Given the description of an element on the screen output the (x, y) to click on. 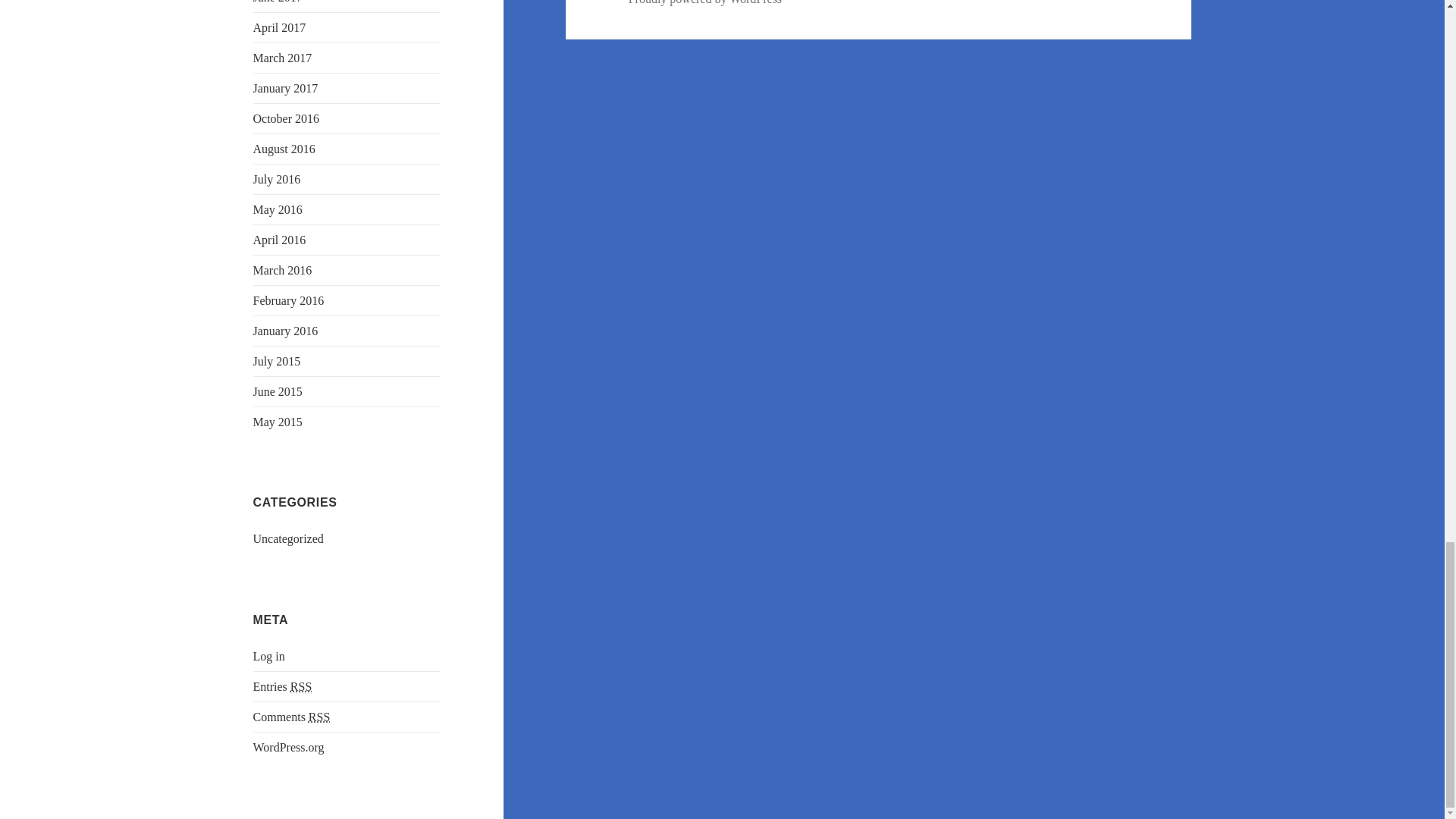
Really Simple Syndication (300, 686)
Really Simple Syndication (319, 716)
